Given the description of an element on the screen output the (x, y) to click on. 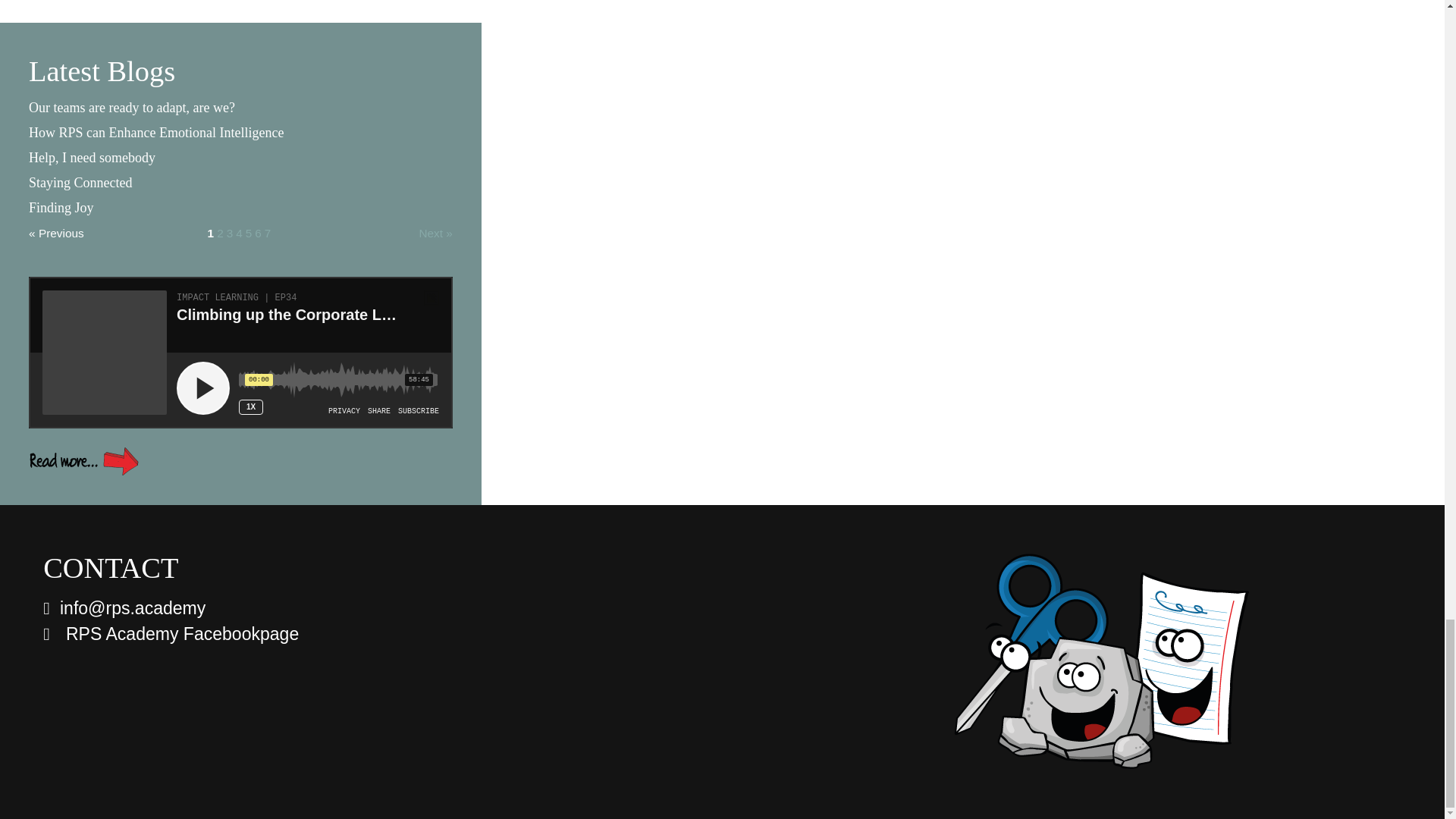
Help, I need somebody (92, 157)
Staying Connected (80, 182)
Our teams are ready to adapt, are we? (131, 107)
 RPS Academy Facebookpage (170, 633)
Finding Joy (61, 207)
How RPS can Enhance Emotional Intelligence (156, 132)
